Given the description of an element on the screen output the (x, y) to click on. 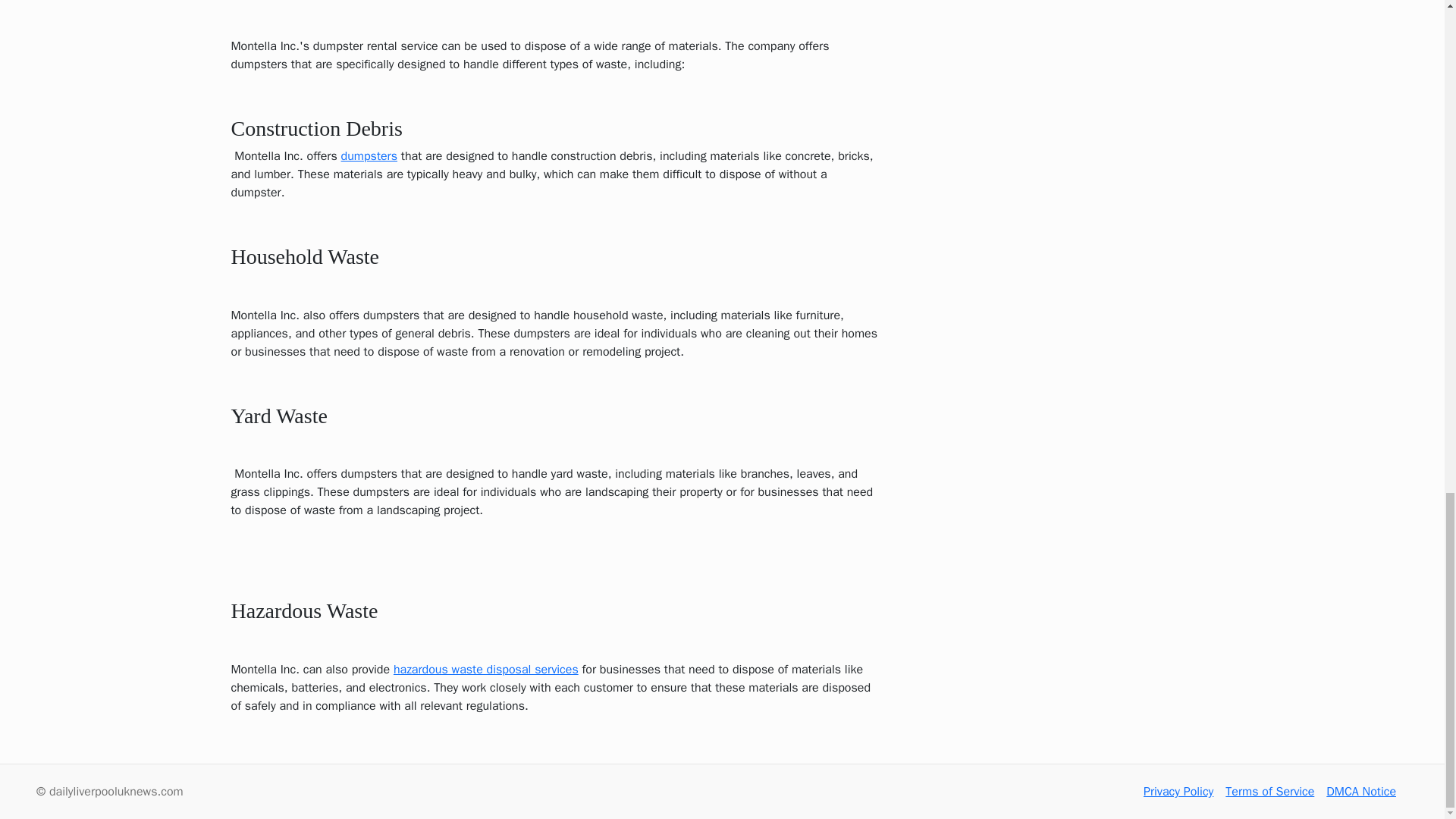
DMCA Notice (1361, 791)
dumpsters (368, 155)
Privacy Policy (1177, 791)
hazardous waste disposal services (485, 669)
Terms of Service (1269, 791)
